Given the description of an element on the screen output the (x, y) to click on. 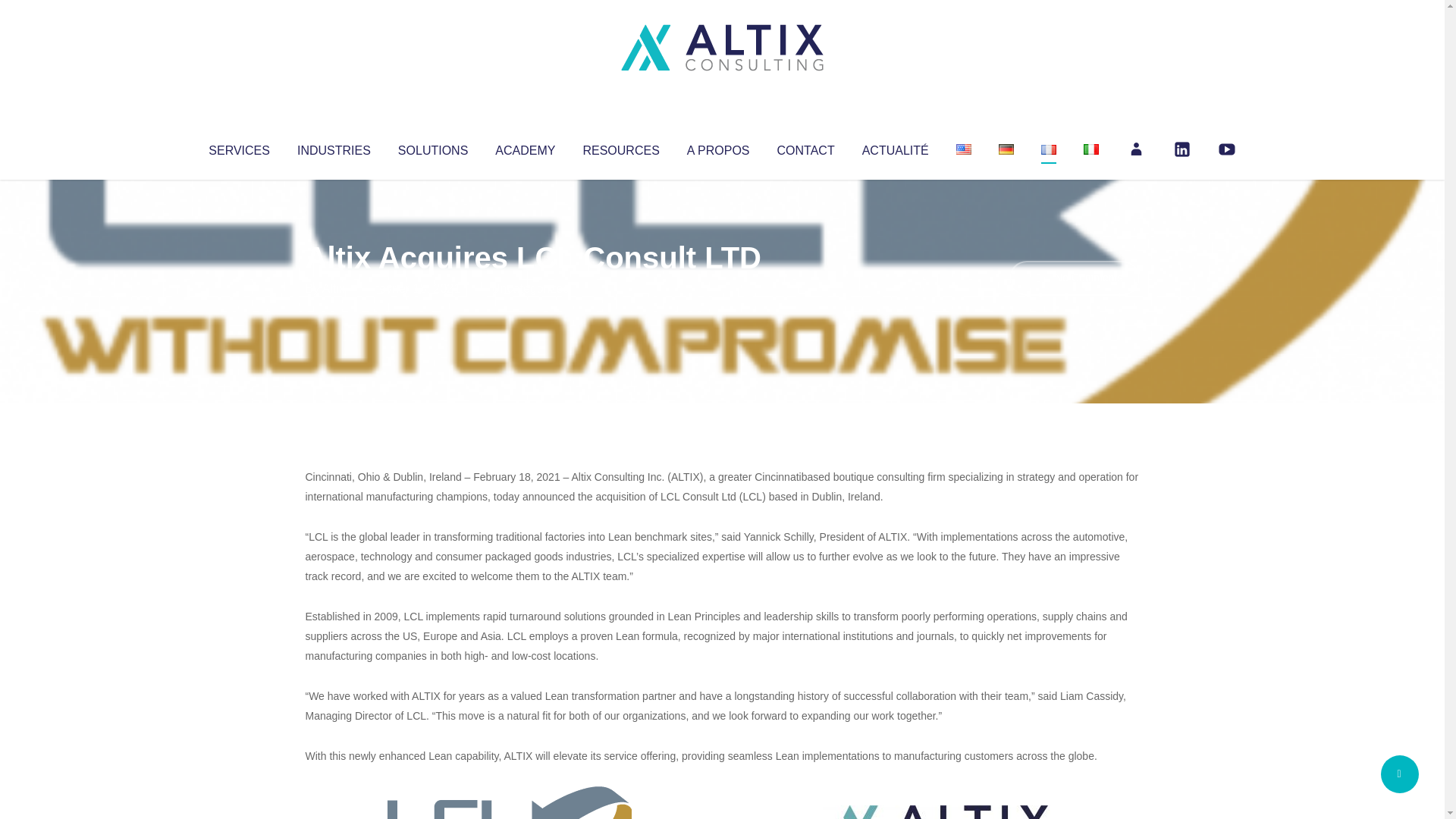
Altix (333, 287)
RESOURCES (620, 146)
A PROPOS (718, 146)
SOLUTIONS (432, 146)
Articles par Altix (333, 287)
SERVICES (238, 146)
Uncategorized (530, 287)
INDUSTRIES (334, 146)
ACADEMY (524, 146)
No Comments (1073, 278)
